Given the description of an element on the screen output the (x, y) to click on. 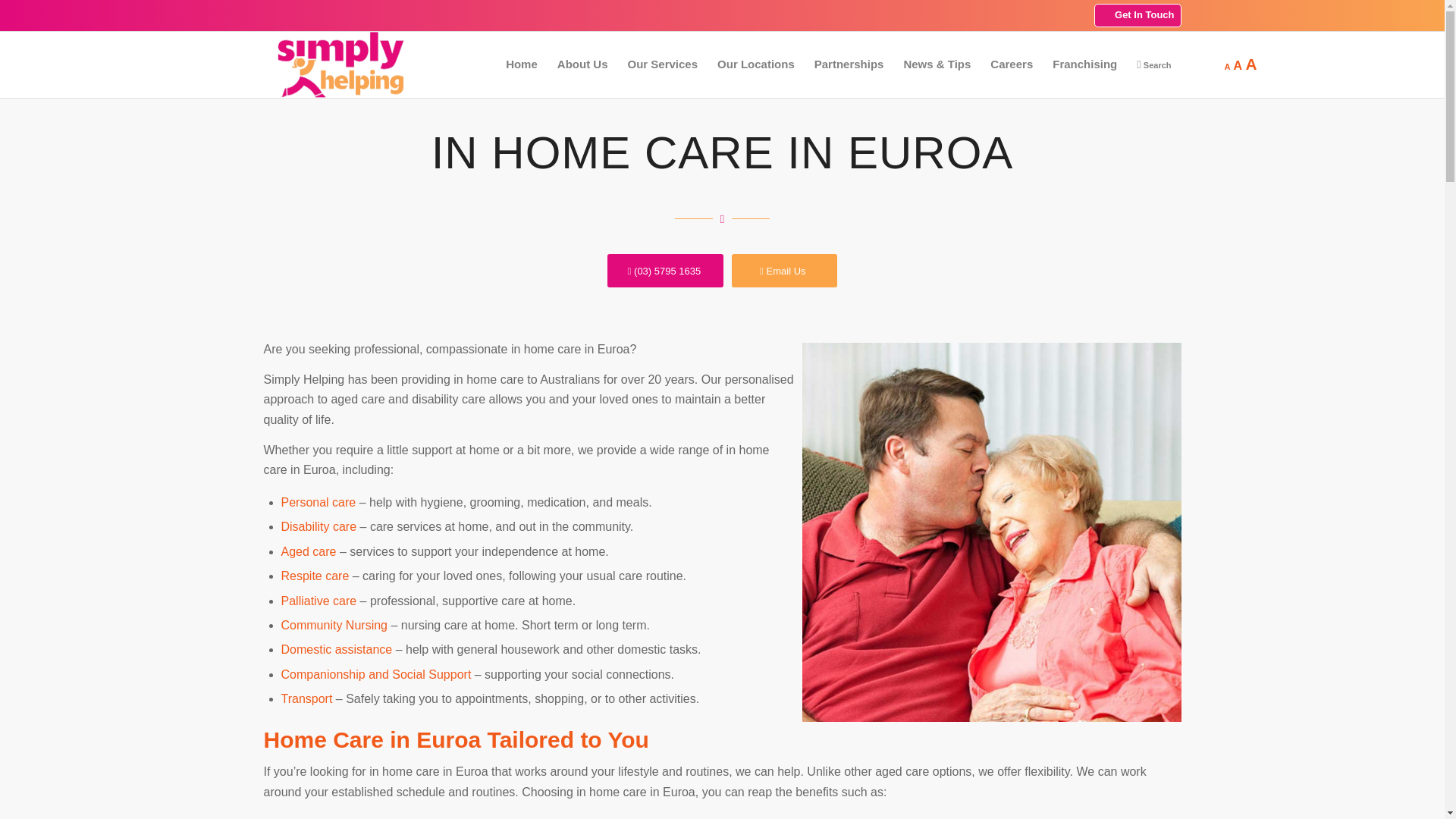
Partnerships (849, 64)
Personal care (318, 502)
Our Locations (756, 64)
Our Services (662, 64)
About Us (582, 64)
Aged care (308, 551)
Community Nursing (334, 625)
Domestic assistance (336, 649)
Respite care (315, 575)
Disability care (318, 526)
